Given the description of an element on the screen output the (x, y) to click on. 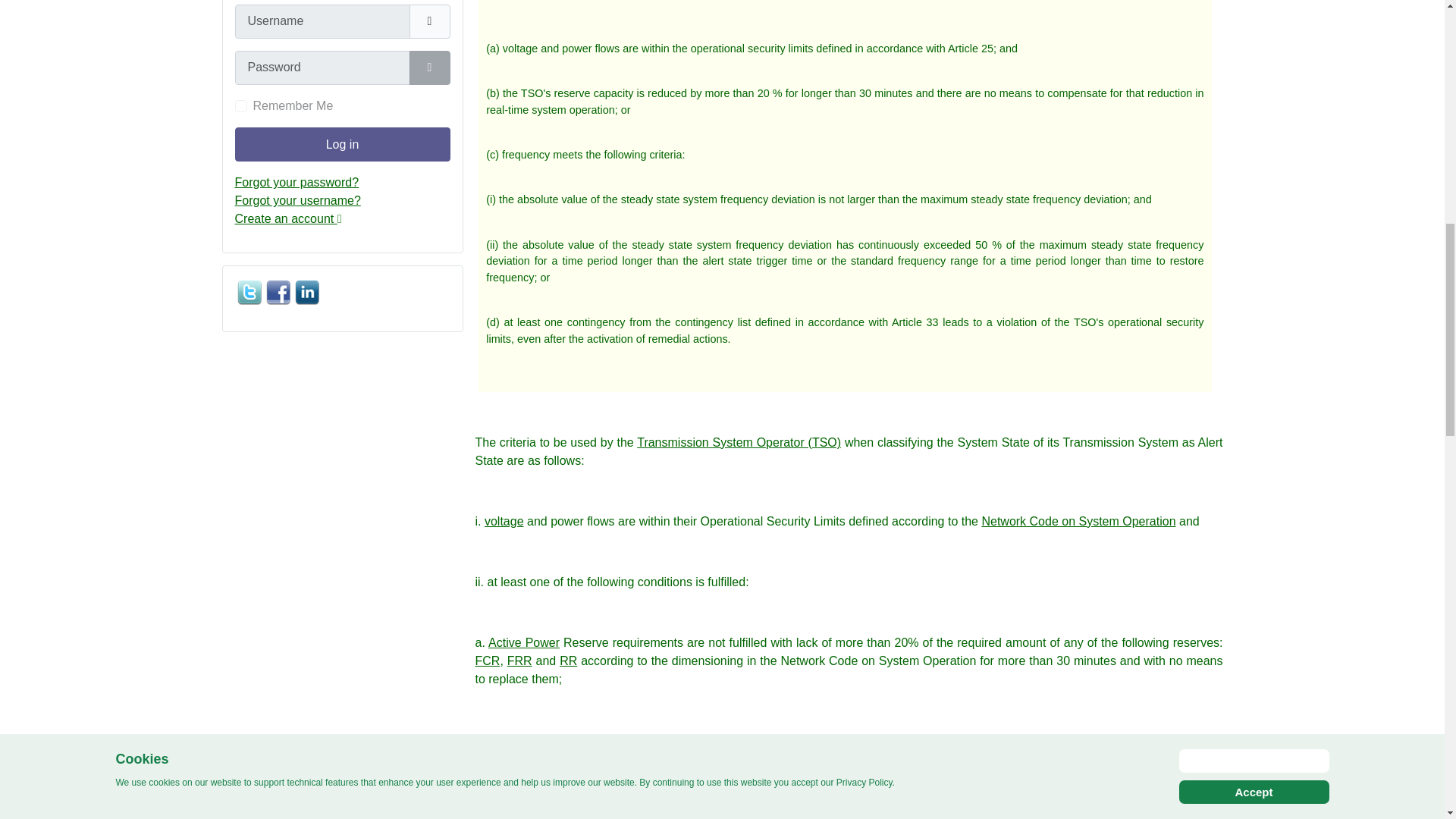
Forgot your password? (296, 182)
Log in (341, 144)
yes (240, 105)
Forgot your username? (297, 200)
Show Password (429, 67)
Create an account (288, 218)
Username (429, 21)
